Given the description of an element on the screen output the (x, y) to click on. 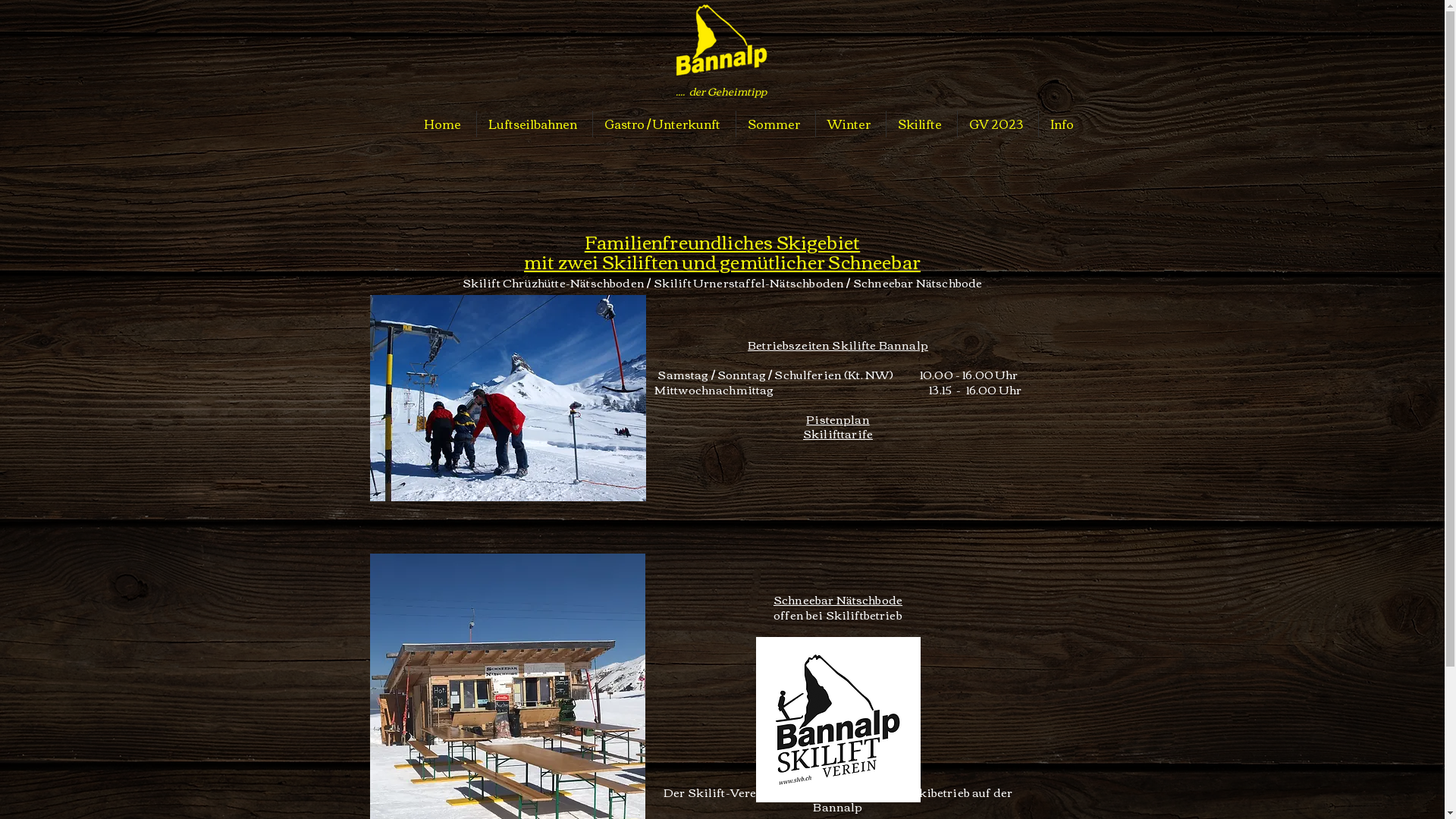
Sommer Element type: text (774, 123)
GV 2023 Element type: text (997, 123)
Winter Element type: text (850, 123)
Luftseilbahnen Element type: text (533, 123)
Gastro / Unterkunft Element type: text (664, 123)
Skilifte Element type: text (920, 123)
Home Element type: text (444, 123)
Pistenplan Element type: text (837, 418)
Skilifttarife Element type: text (837, 432)
Info Element type: text (1063, 123)
